Given the description of an element on the screen output the (x, y) to click on. 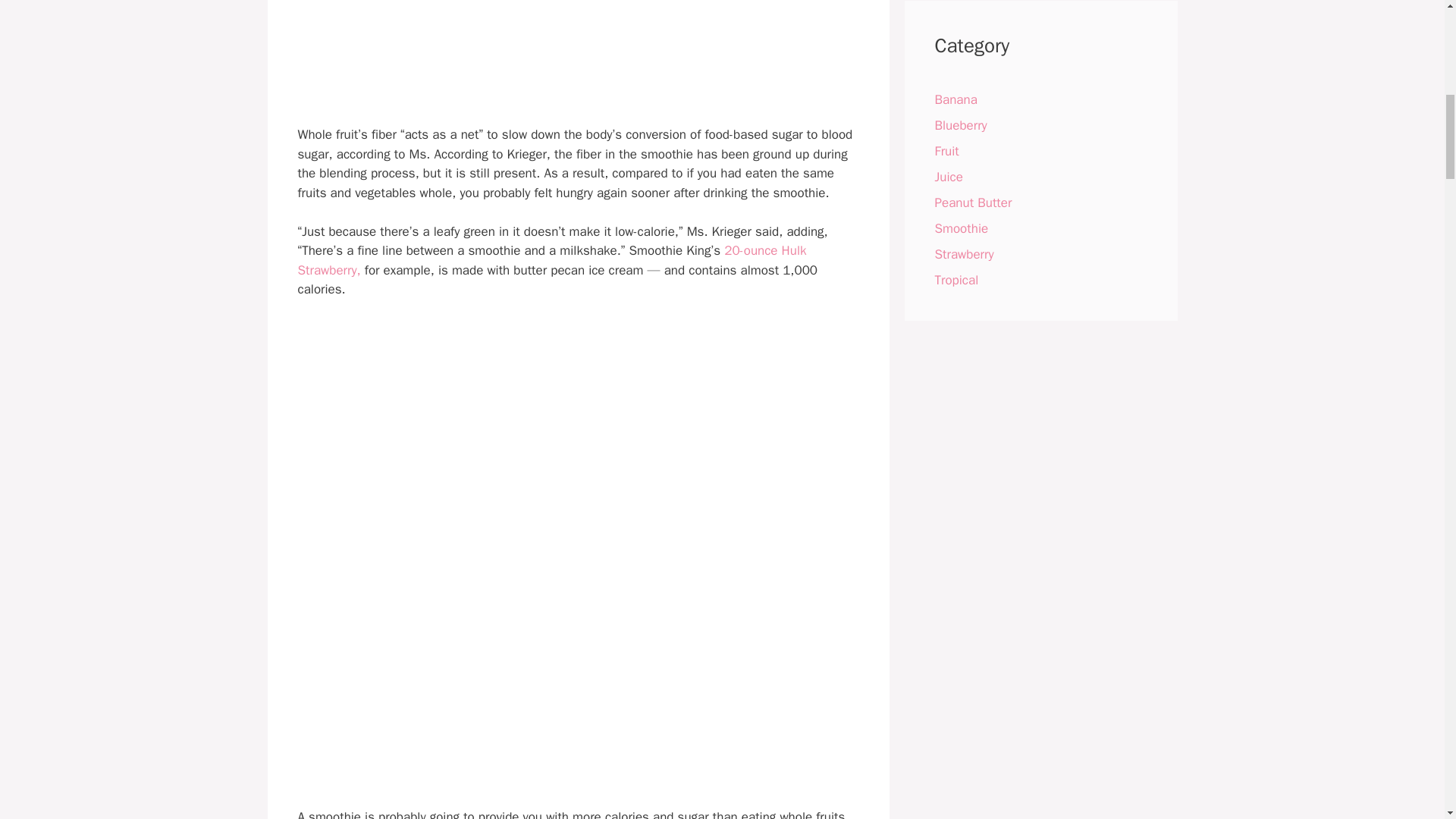
Fruit (946, 150)
Tropical (956, 279)
Juice (948, 176)
20-ounce Hulk Strawberry, (551, 260)
Banana (955, 99)
Strawberry (963, 254)
Blueberry (960, 125)
Peanut Butter (972, 202)
Smoothie (961, 228)
